Given the description of an element on the screen output the (x, y) to click on. 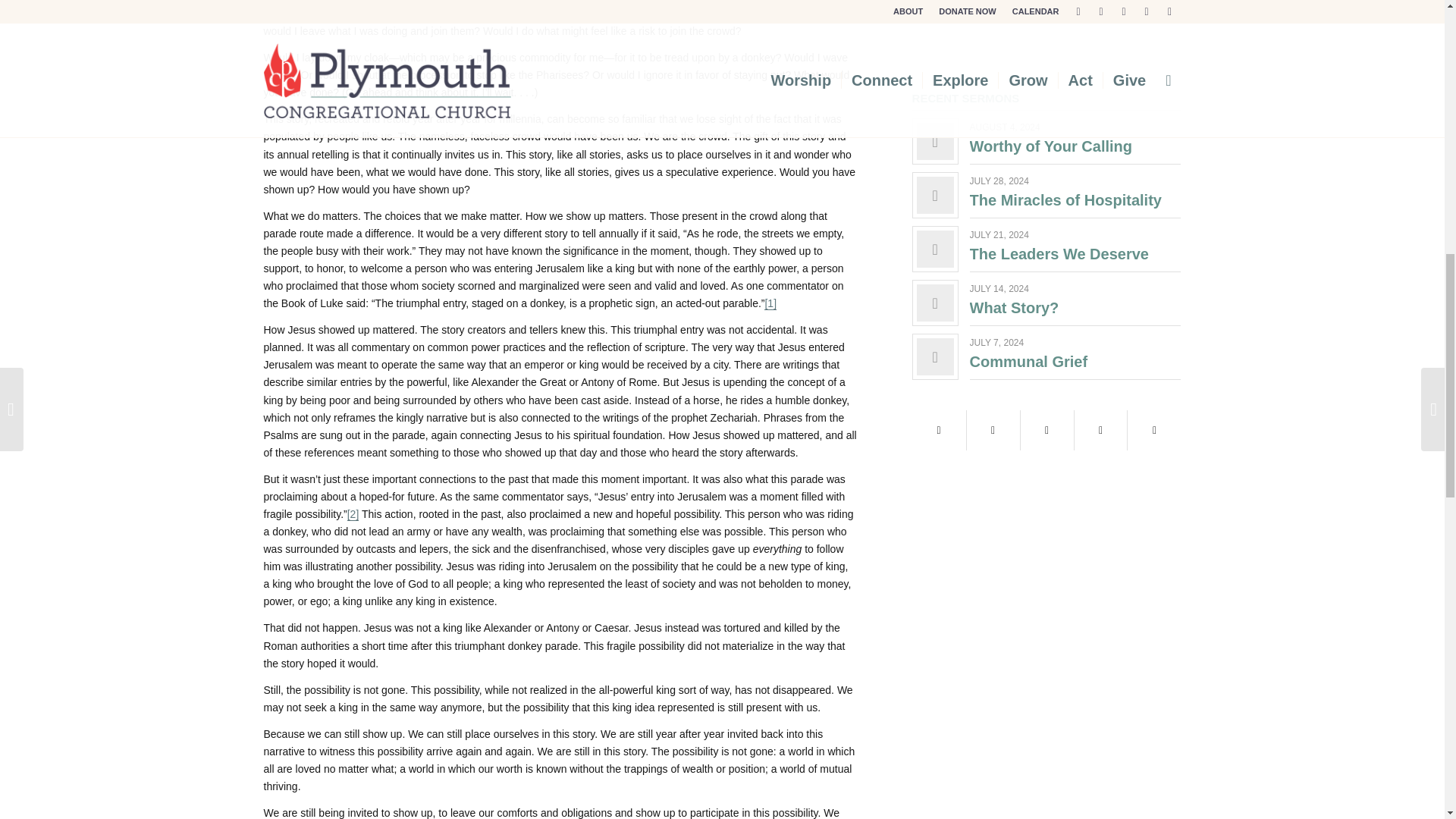
Link to: Worthy of Your Calling (935, 140)
The Leaders We Deserve (1058, 253)
The Miracles of Hospitality (1065, 199)
RECENT SERMONS (966, 97)
Communal Grief (1028, 361)
Link to: The Miracles of Hospitality (935, 194)
What Story? (1014, 307)
Link to: Worthy of Your Calling (1050, 146)
Worthy of Your Calling (1050, 146)
